Given the description of an element on the screen output the (x, y) to click on. 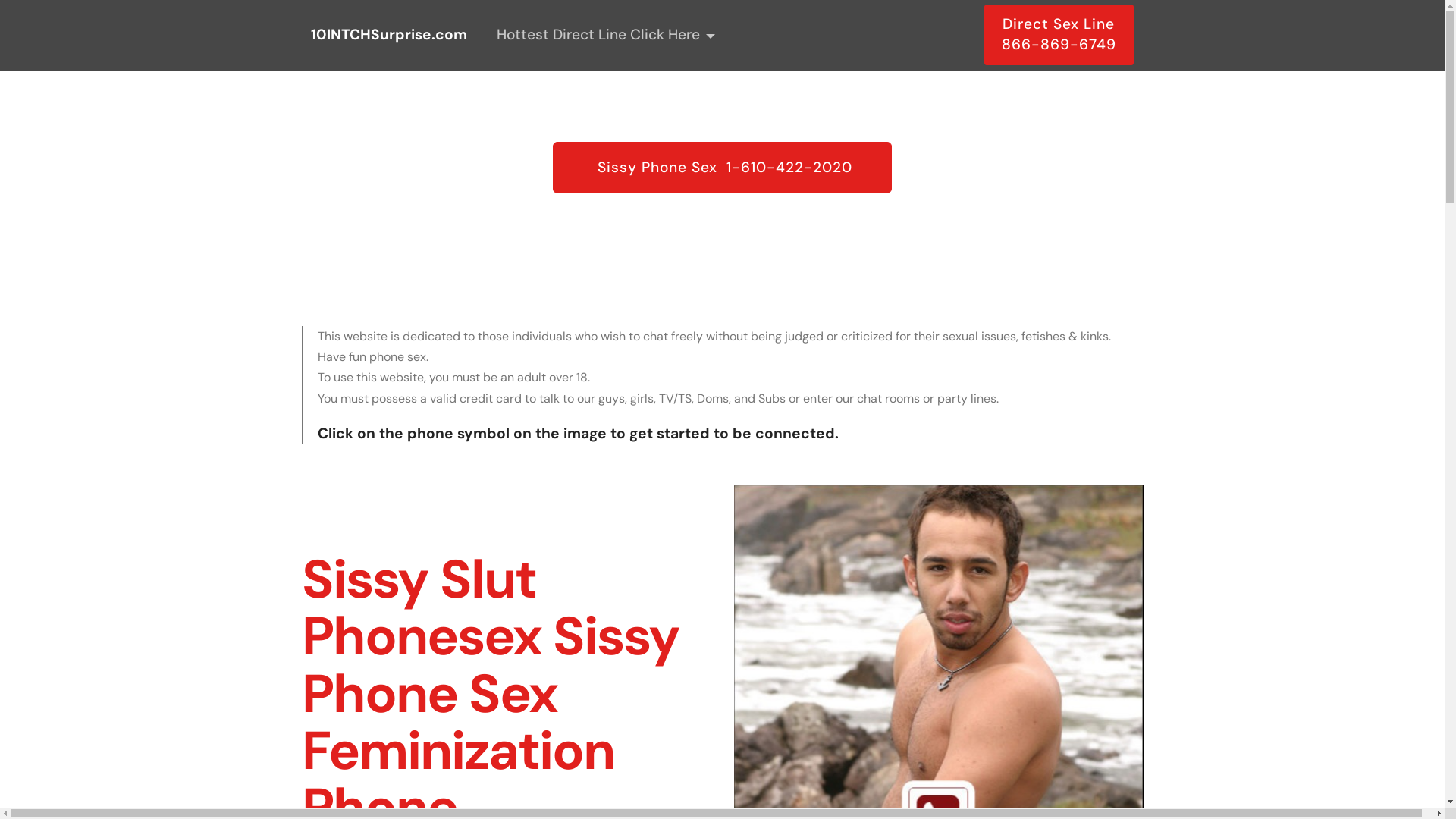
Hottest Direct Line Click Here Element type: text (605, 35)
Direct Sex Line
866-869-6749 Element type: text (1058, 34)
 Sissy Phone Sex  1-610-422-2020 Element type: text (721, 166)
10INTCHSurprise.com Element type: text (388, 35)
